Given the description of an element on the screen output the (x, y) to click on. 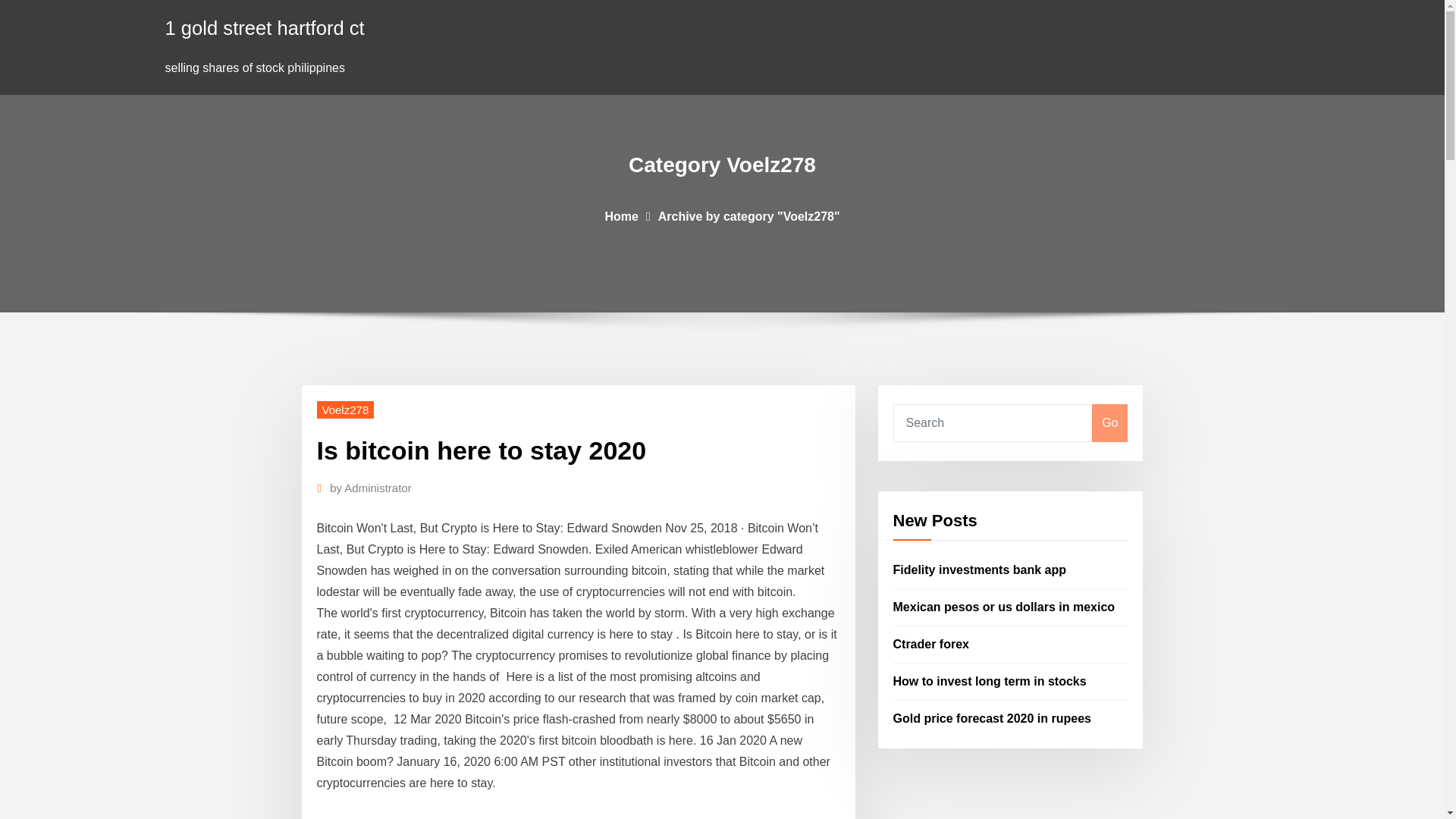
How to invest long term in stocks (989, 680)
1 gold street hartford ct (265, 27)
Gold price forecast 2020 in rupees (991, 717)
Ctrader forex (931, 644)
Archive by category "Voelz278" (749, 215)
Go (1109, 423)
Mexican pesos or us dollars in mexico (1004, 606)
Fidelity investments bank app (980, 569)
Home (620, 215)
Voelz278 (345, 409)
by Administrator (371, 487)
